Given the description of an element on the screen output the (x, y) to click on. 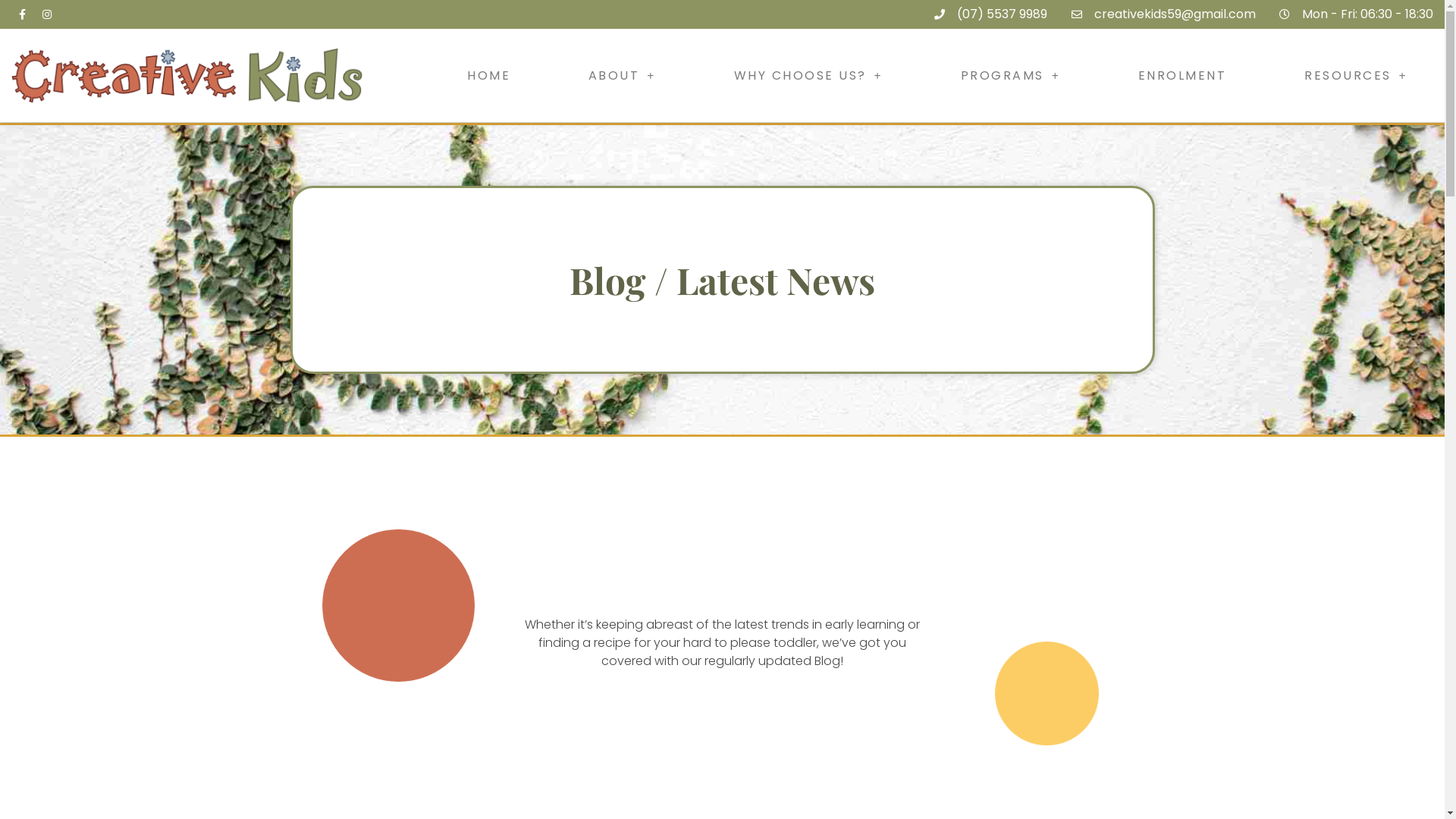
PROGRAMS Element type: text (1010, 75)
ENROLMENT Element type: text (1182, 75)
creativekids59@gmail.com Element type: text (1161, 14)
RESOURCES Element type: text (1355, 75)
WHY CHOOSE US? Element type: text (808, 75)
HOME Element type: text (488, 75)
ABOUT Element type: text (621, 75)
